Given the description of an element on the screen output the (x, y) to click on. 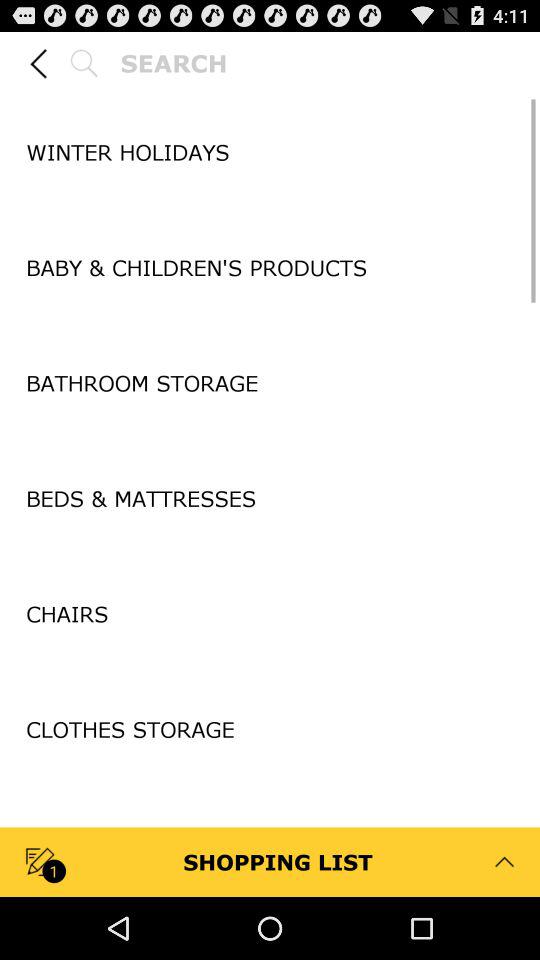
press icon below the bathroom storage (270, 439)
